Given the description of an element on the screen output the (x, y) to click on. 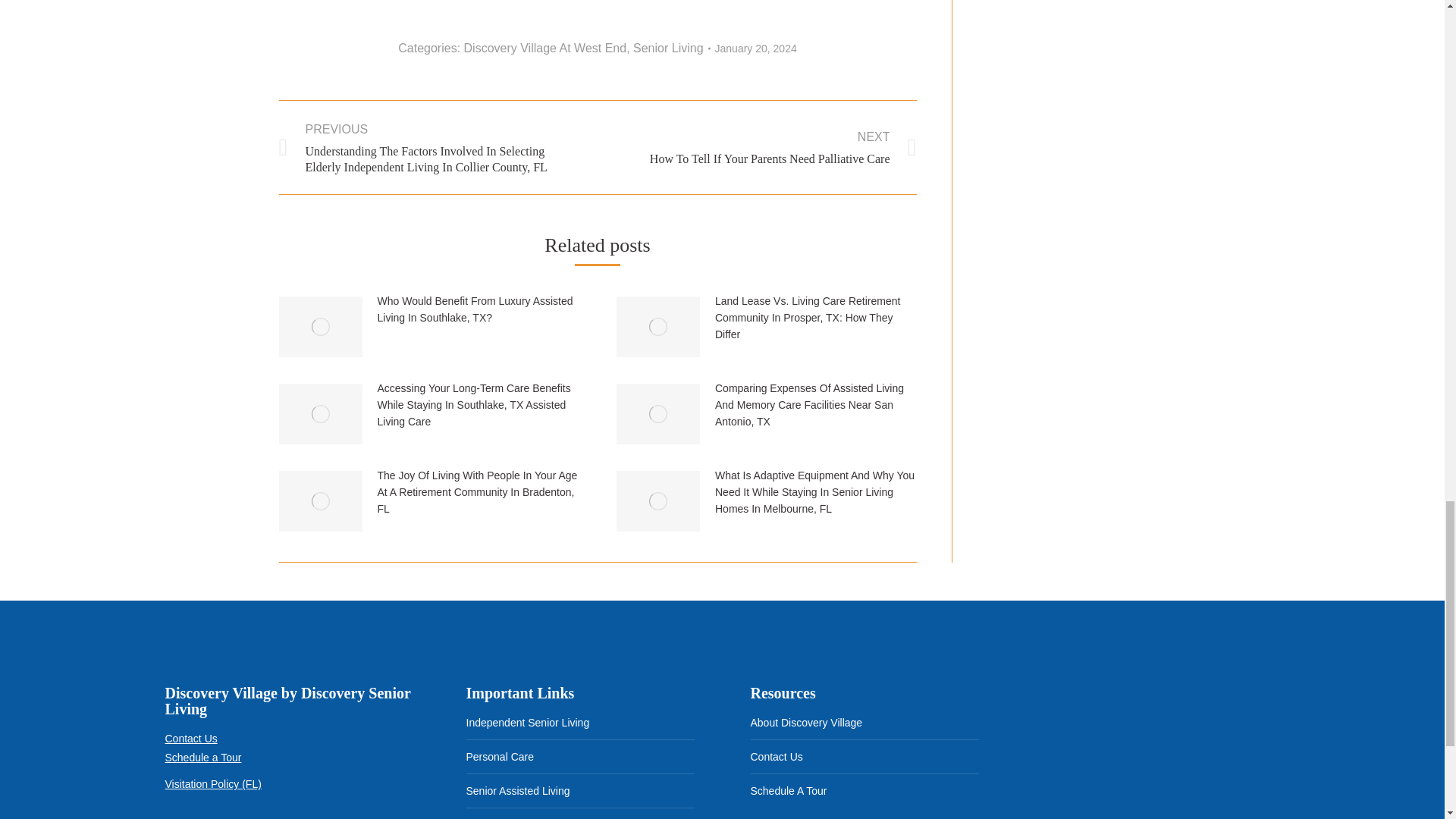
Discovery Map (1148, 752)
4:24 am (755, 48)
